Given the description of an element on the screen output the (x, y) to click on. 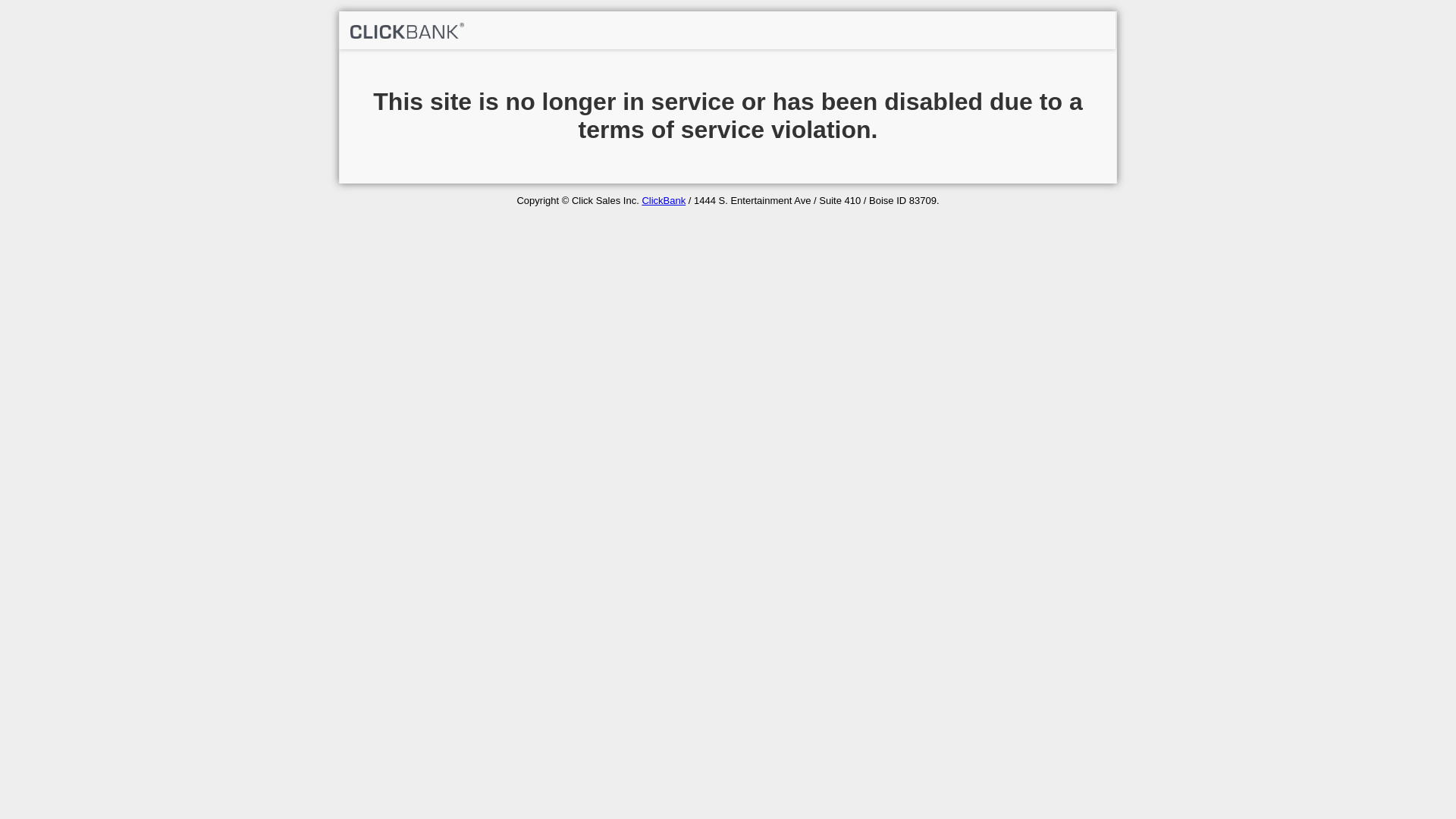
ClickBank Element type: text (663, 200)
